Given the description of an element on the screen output the (x, y) to click on. 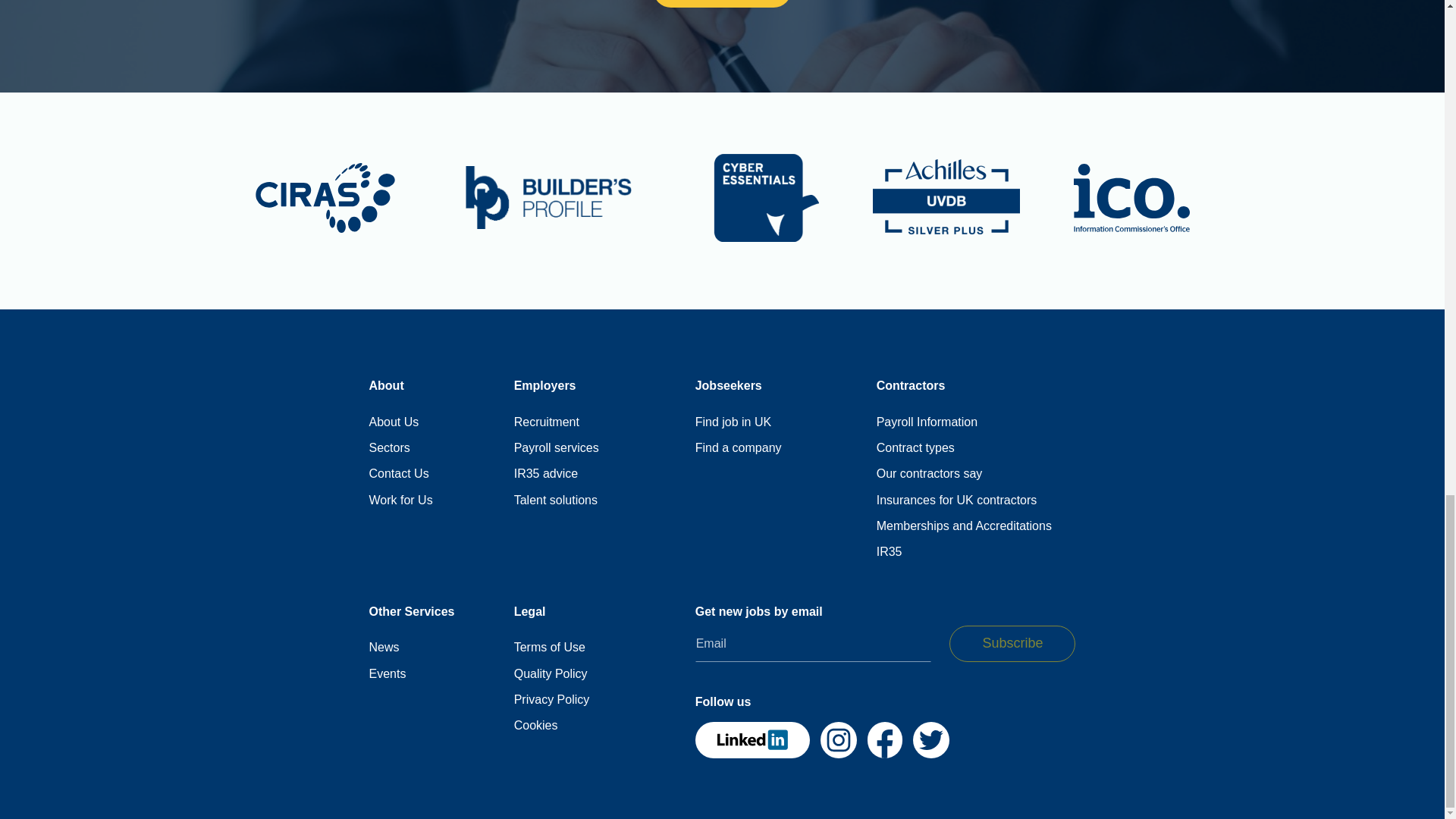
Terms of Use (549, 647)
Work for Us (400, 500)
Sectors (388, 447)
Contact Us (398, 473)
About Us (393, 421)
Contract types (915, 447)
open uk jobs search (733, 421)
Find job in UK (733, 421)
Privacy Policy (551, 699)
IR35 (889, 551)
